Given the description of an element on the screen output the (x, y) to click on. 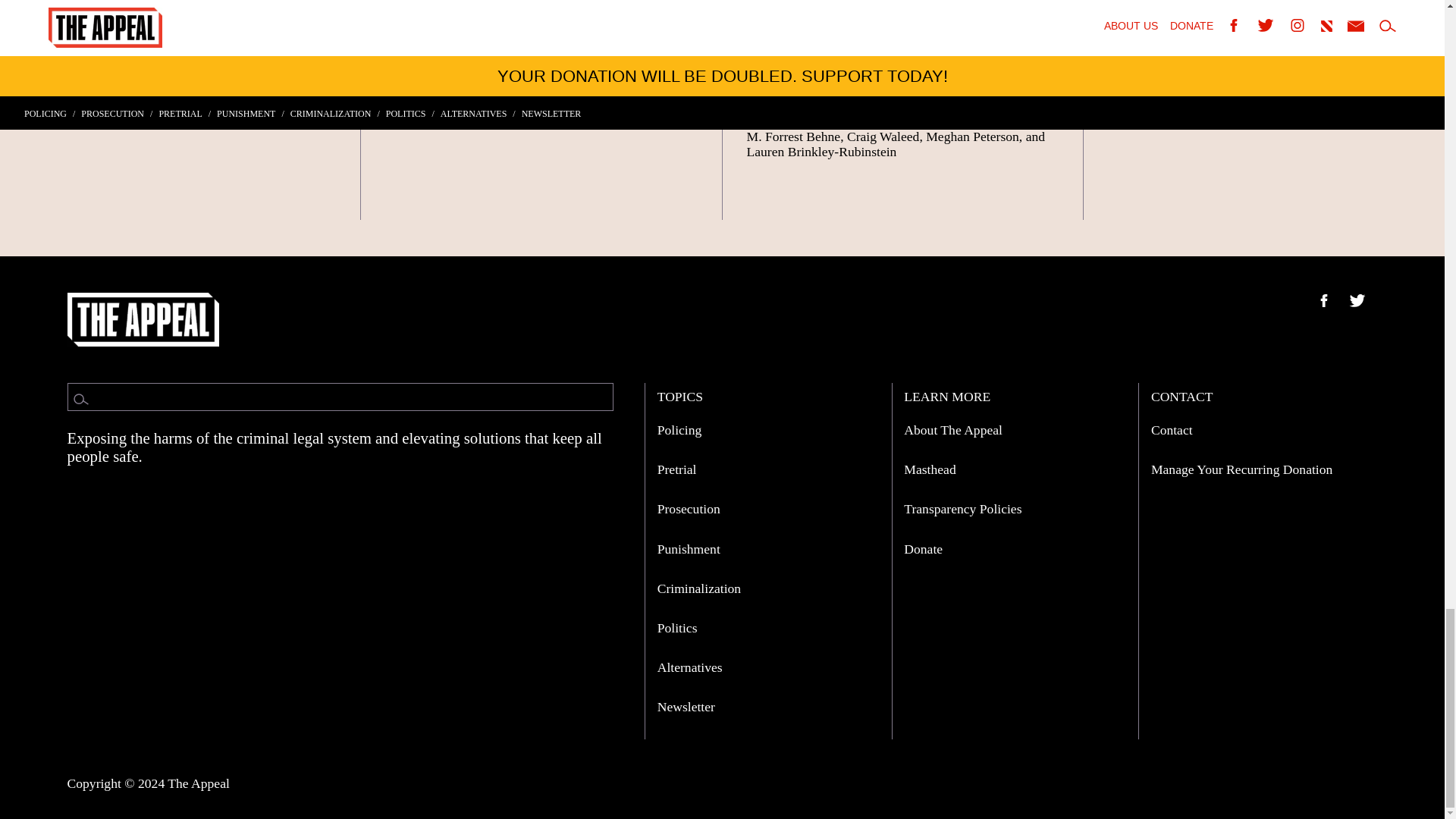
Prosecution (689, 508)
Pretrial (677, 468)
Policing (679, 429)
